Given the description of an element on the screen output the (x, y) to click on. 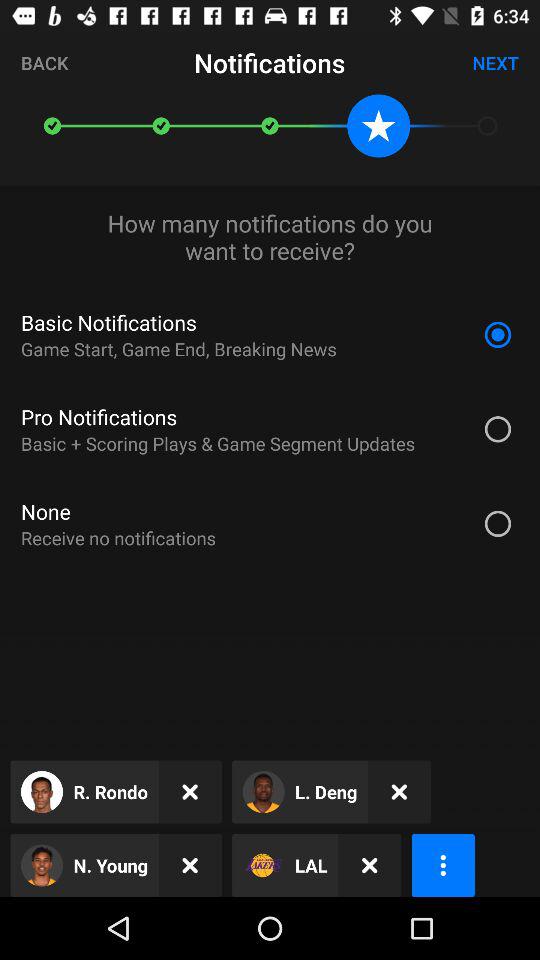
open the next icon (495, 62)
